Given the description of an element on the screen output the (x, y) to click on. 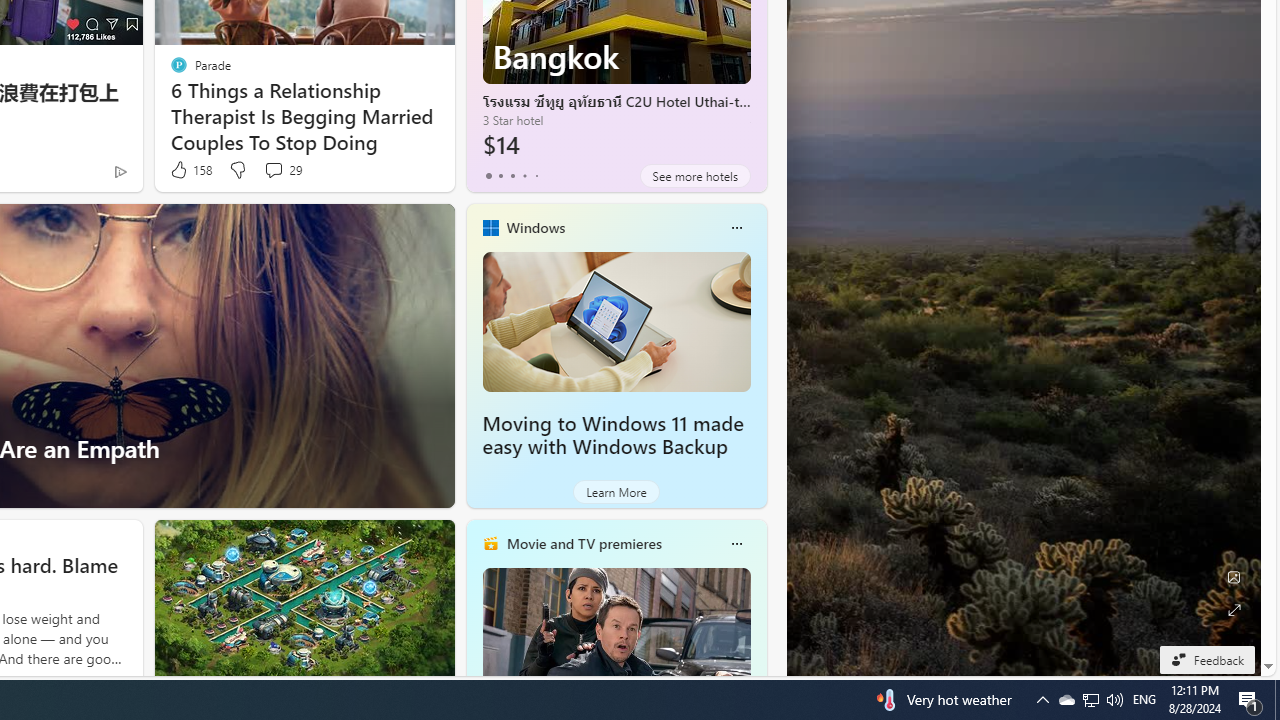
Moving to Windows 11 made easy with Windows Backup (616, 321)
tab-4 (535, 175)
Moving to Windows 11 made easy with Windows Backup (612, 435)
Expand background (1233, 610)
See more hotels (694, 175)
Windows (535, 227)
tab-3 (524, 175)
158 Like (190, 170)
View comments 29 Comment (281, 170)
View comments 29 Comment (273, 169)
